Given the description of an element on the screen output the (x, y) to click on. 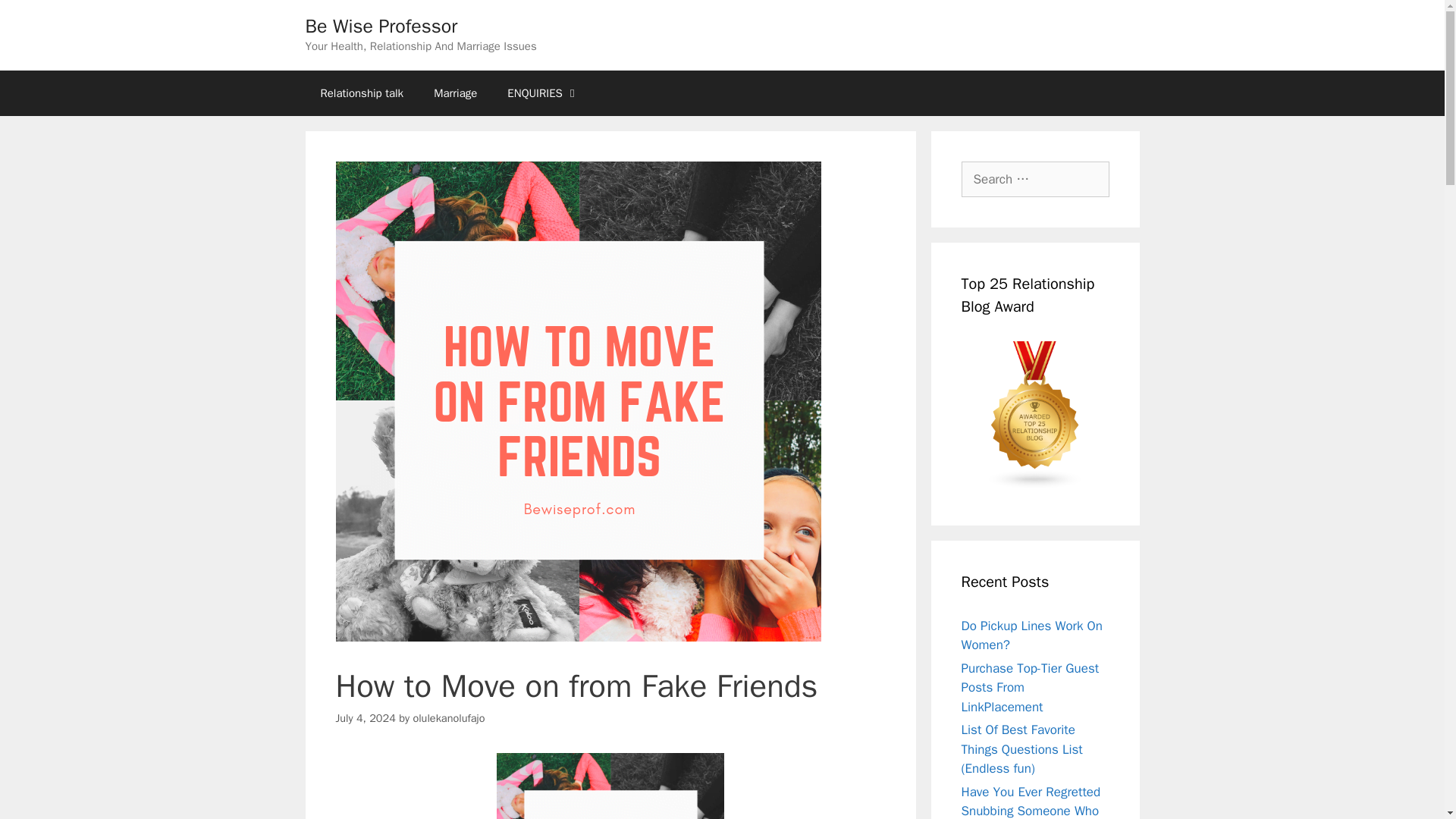
Marriage (455, 92)
Search for: (1034, 178)
Search (35, 18)
View all posts by olulekanolufajo (448, 717)
ENQUIRIES (543, 92)
Relationship talk (361, 92)
Do Pickup Lines Work On Women? (1031, 634)
Purchase Top-Tier Guest Posts From LinkPlacement (1029, 687)
olulekanolufajo (448, 717)
